Given the description of an element on the screen output the (x, y) to click on. 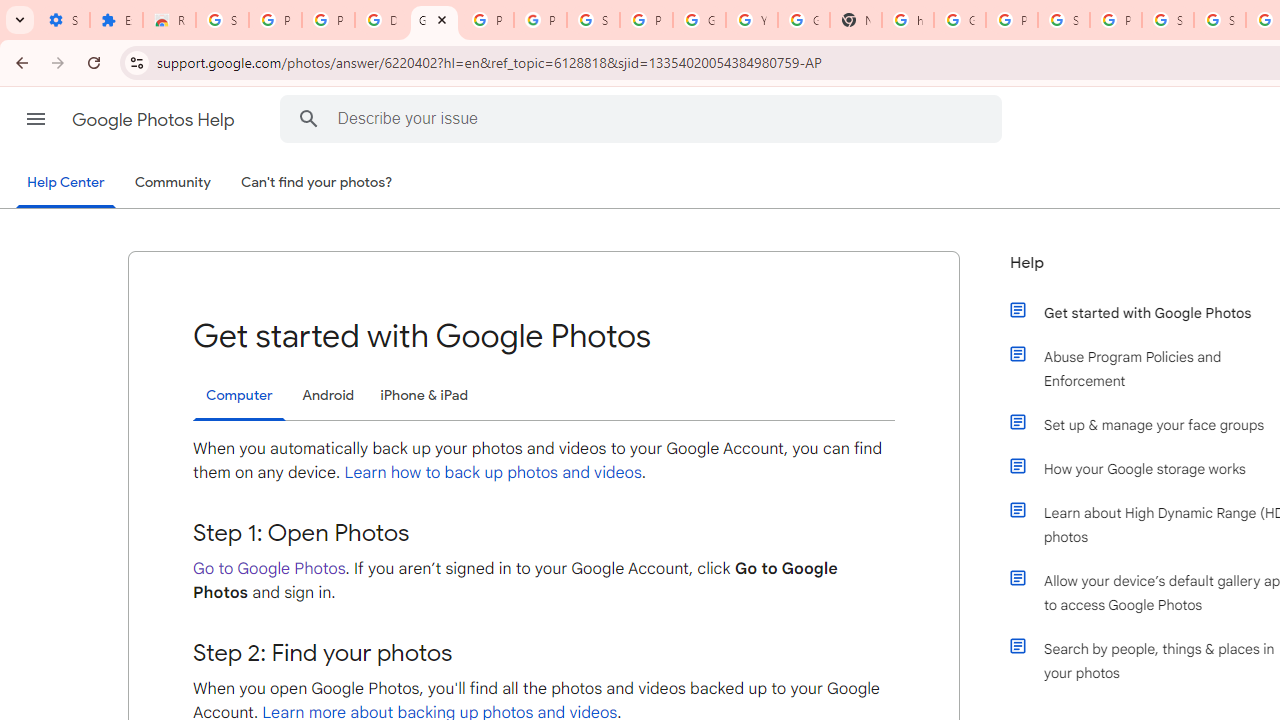
Main menu (35, 119)
Learn how to back up photos and videos (493, 472)
Computer (239, 396)
Android (328, 395)
Go to Google Photos (269, 568)
Sign in - Google Accounts (1219, 20)
New Tab (855, 20)
Sign in - Google Accounts (1167, 20)
